Given the description of an element on the screen output the (x, y) to click on. 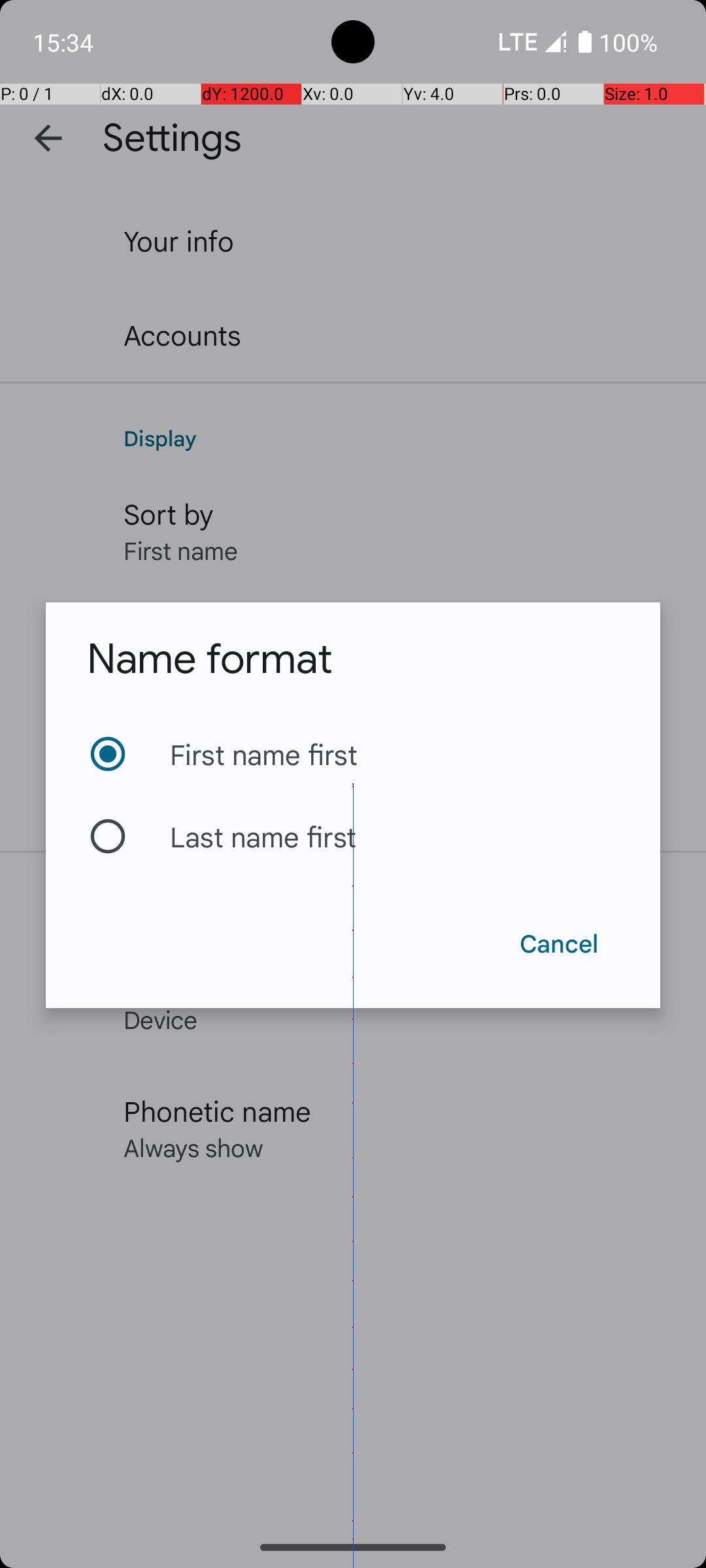
Name format Element type: android.widget.TextView (209, 659)
First name first Element type: android.widget.CheckedTextView (352, 753)
Last name first Element type: android.widget.CheckedTextView (352, 836)
